Given the description of an element on the screen output the (x, y) to click on. 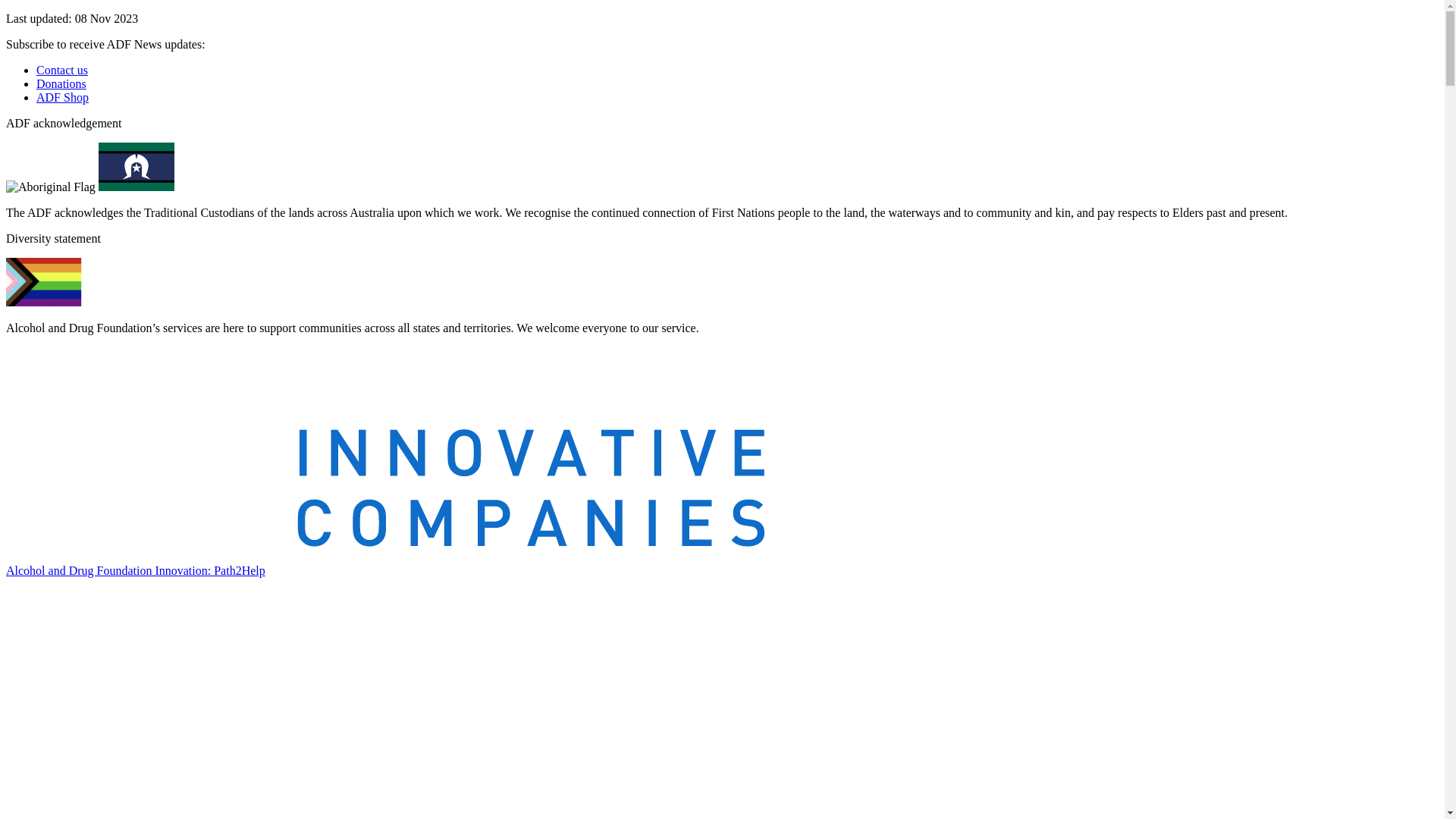
Contact us Element type: text (61, 69)
Donations Element type: text (61, 83)
2022 AFR BOSS Most Innovative Companies Element type: hover (385, 448)
Alcohol and Drug Foundation Innovation: Path2Help Element type: text (135, 570)
ADF Shop Element type: text (62, 97)
